Given the description of an element on the screen output the (x, y) to click on. 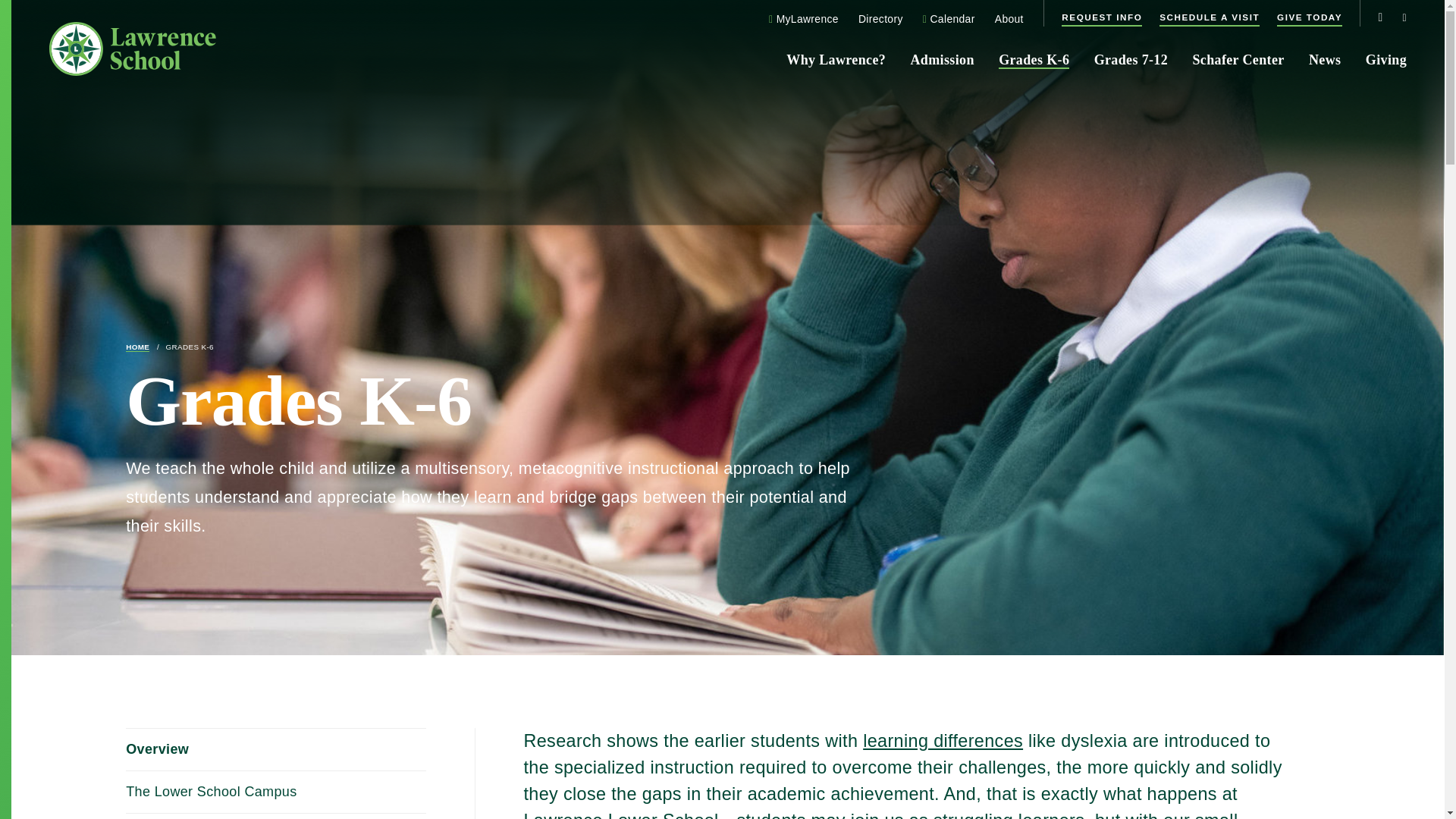
Overview (275, 749)
The Lower School Campus (275, 792)
Academics (275, 816)
Home (137, 347)
Grades K-6 (188, 347)
